Given the description of an element on the screen output the (x, y) to click on. 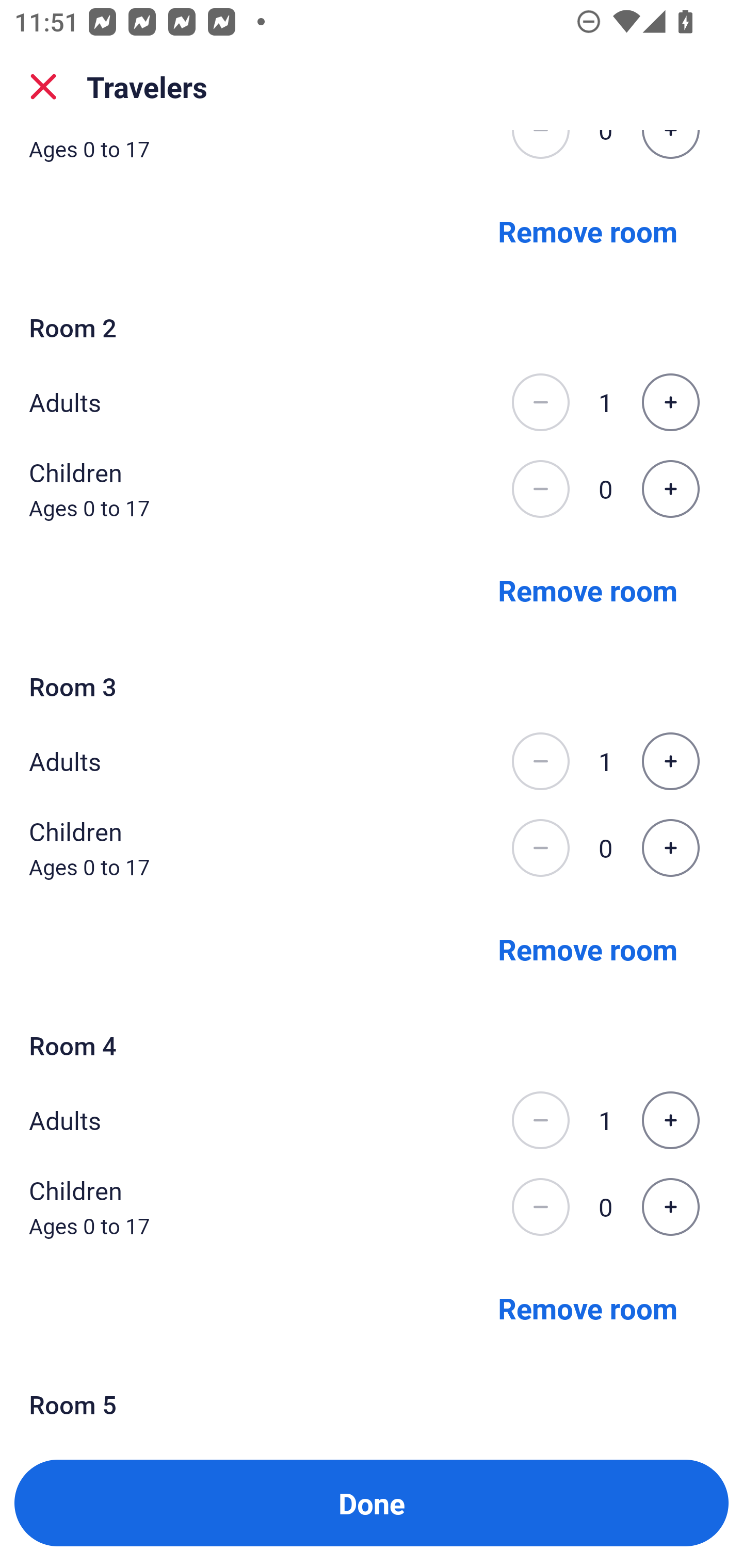
close (43, 86)
Remove room (588, 231)
Decrease the number of adults (540, 402)
Increase the number of adults (670, 402)
Decrease the number of children (540, 488)
Increase the number of children (670, 488)
Remove room (588, 590)
Decrease the number of adults (540, 761)
Increase the number of adults (670, 761)
Decrease the number of children (540, 847)
Increase the number of children (670, 847)
Remove room (588, 949)
Decrease the number of adults (540, 1120)
Increase the number of adults (670, 1120)
Decrease the number of children (540, 1206)
Increase the number of children (670, 1206)
Remove room (588, 1308)
Done (371, 1502)
